Given the description of an element on the screen output the (x, y) to click on. 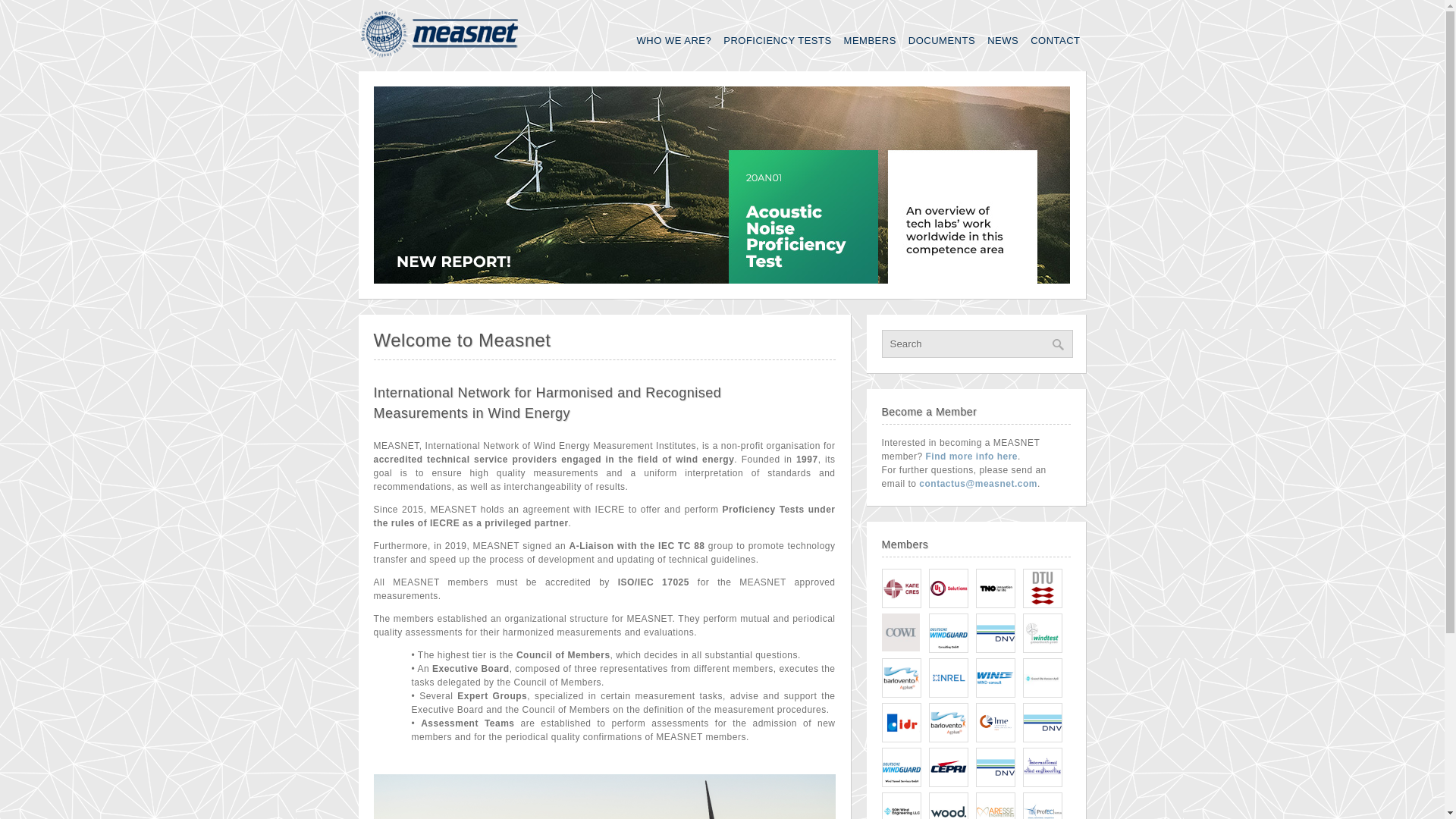
PROFICIENCY TESTS (777, 40)
 Svend Ole Hansen ApS, Denmark (1041, 677)
DOCUMENTS (941, 40)
 windtest grevenbroich GmbH, Germany (1041, 632)
WHO WE ARE? (673, 40)
 UL Solutions, Germany (948, 588)
NEWS (1003, 40)
CONTACT (1055, 40)
 TNO - Innovation for life, The Netherlands (994, 588)
Measnet (439, 54)
 NREL - National Renewable Energy Laboratory, USA (948, 677)
 CRES - Centre for Renewable Energy Sources, Greece (900, 588)
MEMBERS (870, 40)
DNV (994, 650)
Search (975, 343)
